Given the description of an element on the screen output the (x, y) to click on. 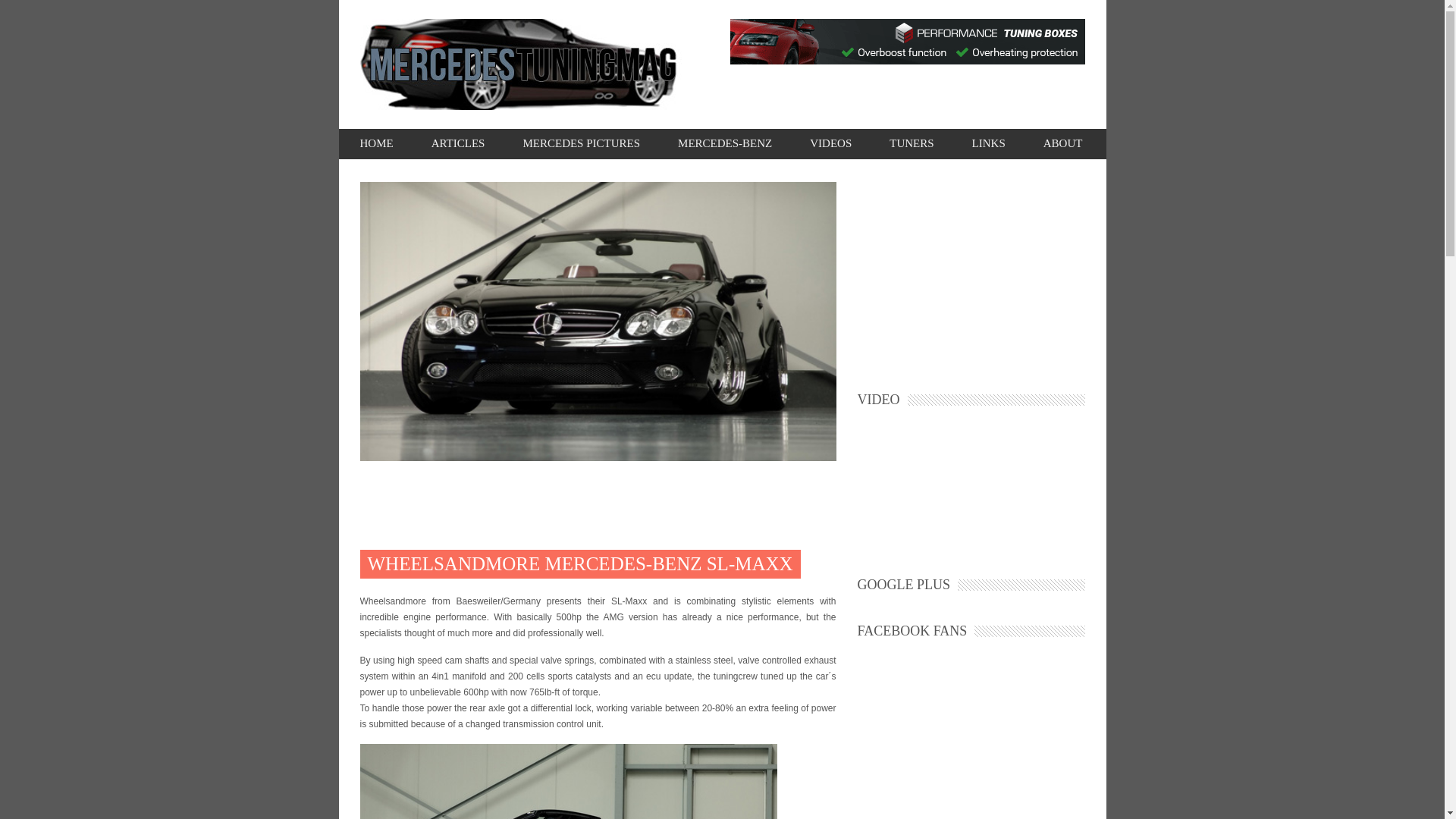
MERCEDES-BENZ (724, 143)
TUNERS (911, 143)
Mercedes Tuning (376, 143)
MERCEDES PICTURES (581, 143)
ABOUT (1063, 143)
VIDEOS (830, 143)
Mercedes Tuning news (457, 143)
LINKS (989, 143)
HOME (376, 143)
ARTICLES (457, 143)
